Given the description of an element on the screen output the (x, y) to click on. 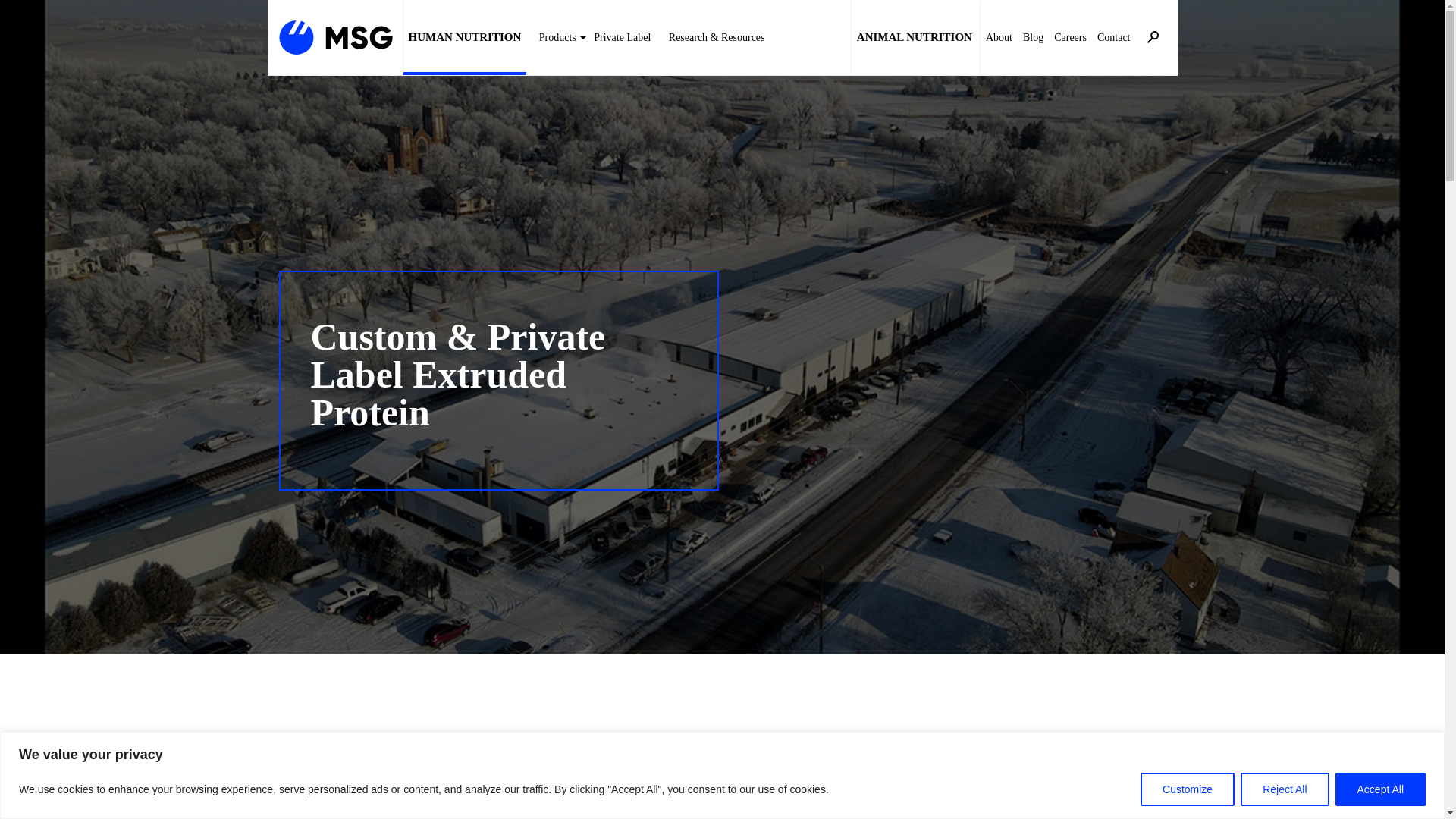
Customize (1187, 788)
HUMAN NUTRITION (463, 37)
Reject All (1283, 788)
Milk Specialties Global (336, 37)
Accept All (1380, 788)
